Given the description of an element on the screen output the (x, y) to click on. 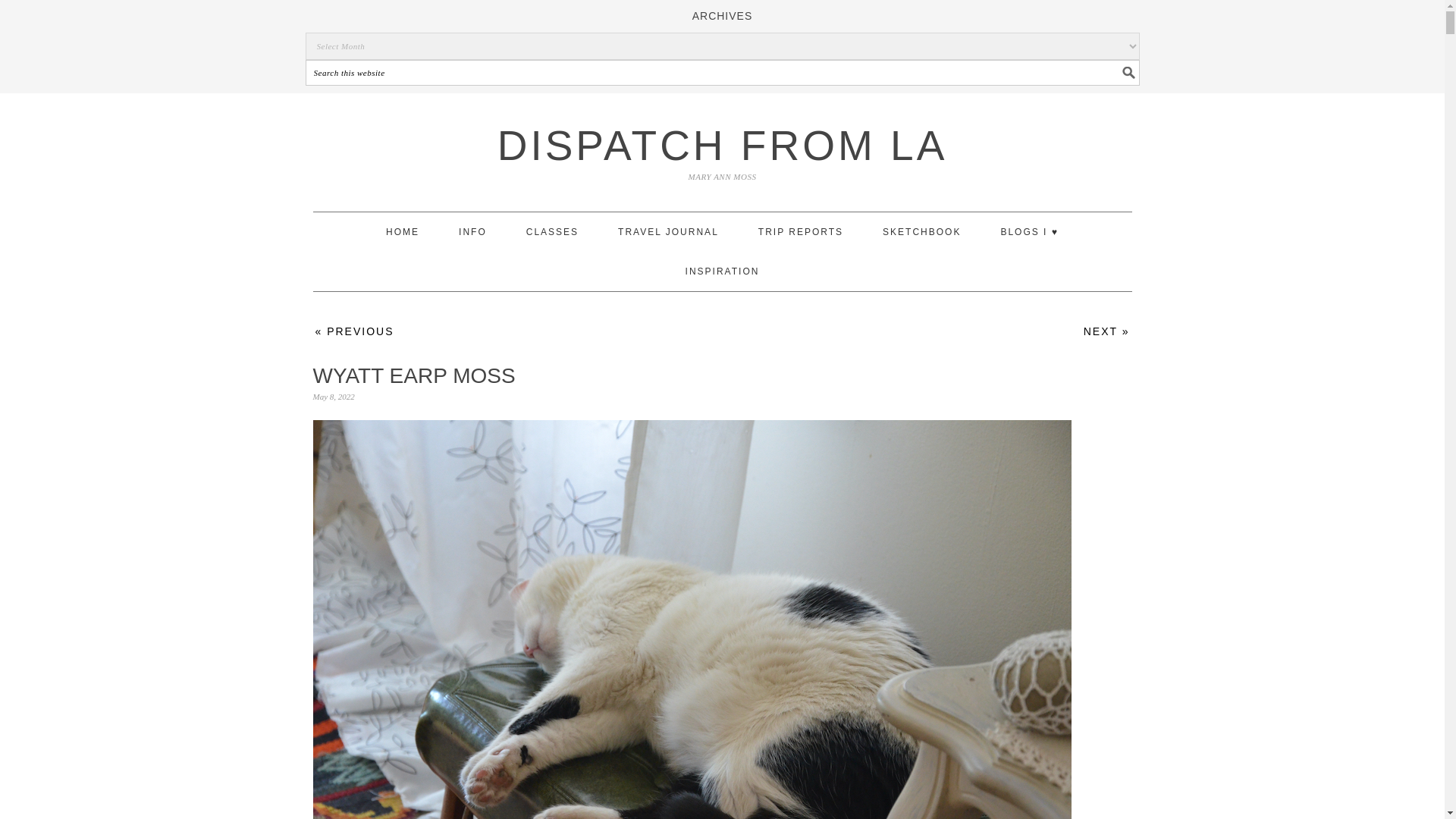
DISPATCH FROM LA (722, 145)
TRAVEL JOURNAL (668, 231)
HOME (402, 231)
CLASSES (551, 231)
TRIP REPORTS (800, 231)
INFO (472, 231)
